Given the description of an element on the screen output the (x, y) to click on. 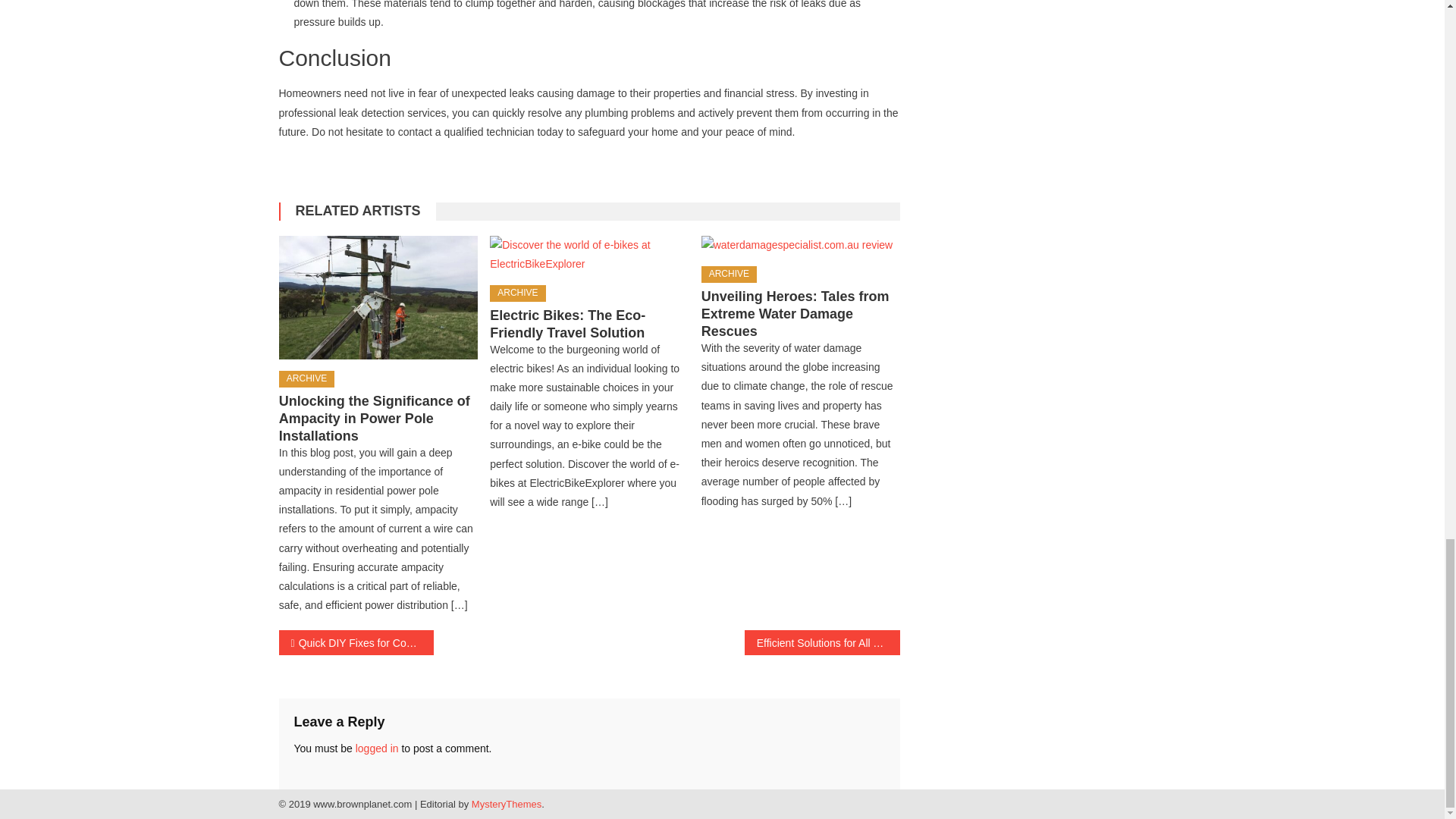
Unveiling Heroes: Tales from Extreme Water Damage Rescues (800, 245)
ARCHIVE (729, 274)
logged in (376, 748)
Electric Bikes: The Eco-Friendly Travel Solution (567, 323)
Efficient Solutions for All Your Rubbish Removal Needs (821, 642)
ARCHIVE (516, 293)
Electric Bikes: The Eco-Friendly Travel Solution (588, 254)
Quick DIY Fixes for Common Carpet Water Issues (356, 642)
ARCHIVE (306, 379)
